Given the description of an element on the screen output the (x, y) to click on. 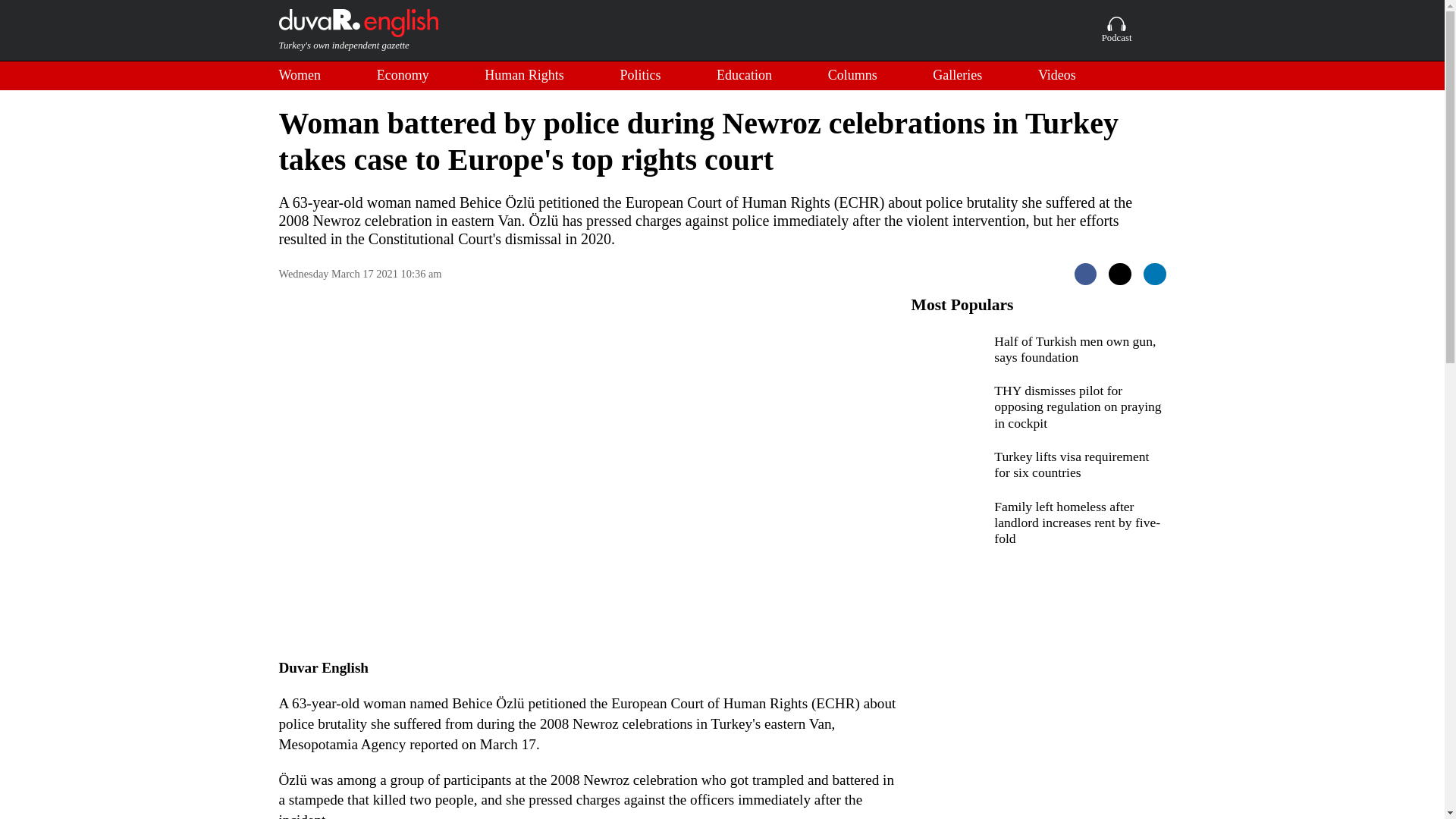
Share with Facebook (1085, 273)
Human Rights (524, 75)
Turkey's own independent gazette (358, 30)
Politics (640, 75)
Economy (403, 75)
Politics (640, 75)
Education (743, 75)
Share with Linkedin (1154, 273)
Women (300, 75)
Human Rights (524, 75)
Women (300, 75)
Podcast (1117, 30)
Duvar English (358, 30)
